Given the description of an element on the screen output the (x, y) to click on. 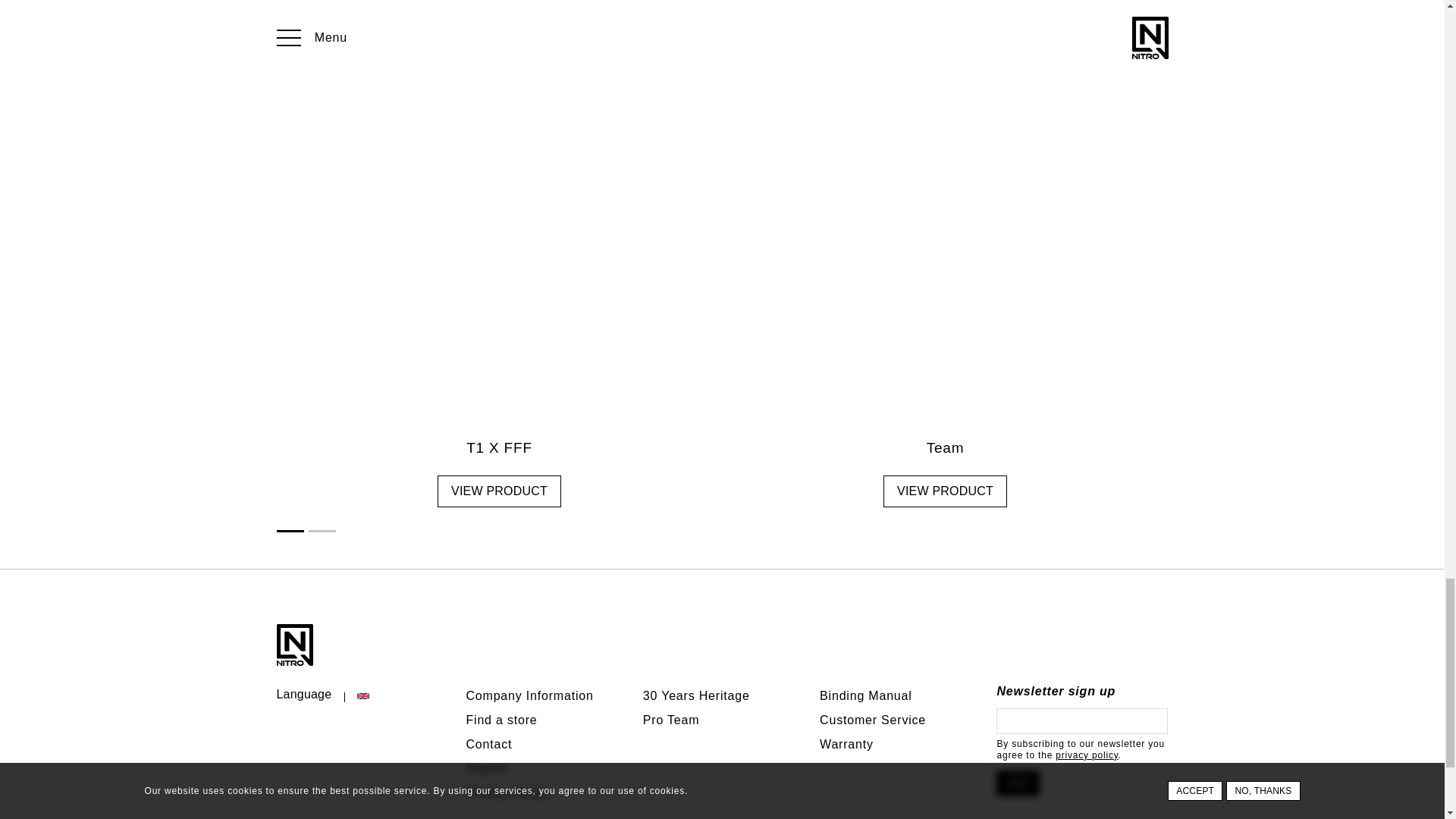
Go! (1017, 783)
English (362, 695)
